Given the description of an element on the screen output the (x, y) to click on. 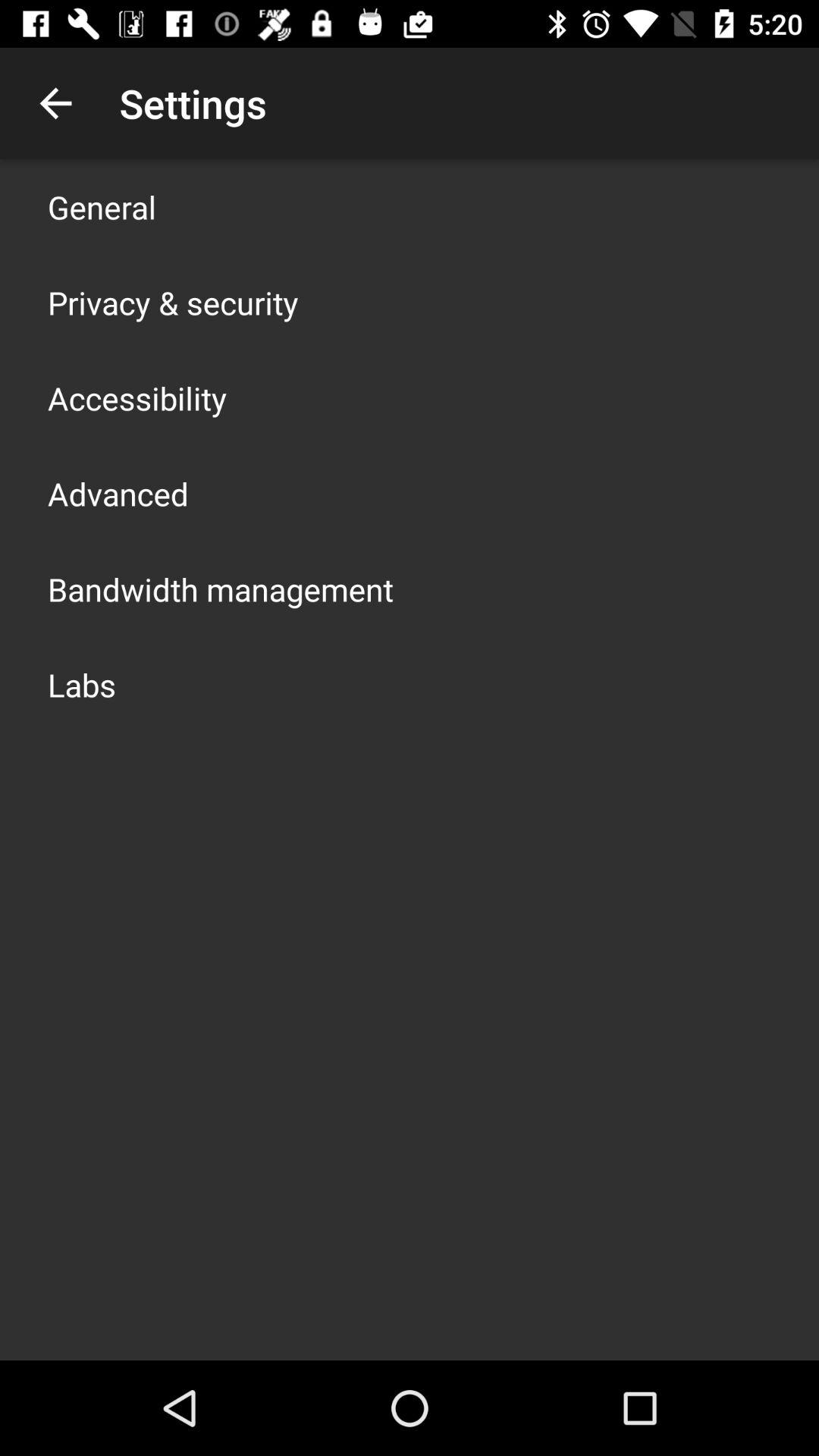
jump to privacy & security icon (172, 302)
